Given the description of an element on the screen output the (x, y) to click on. 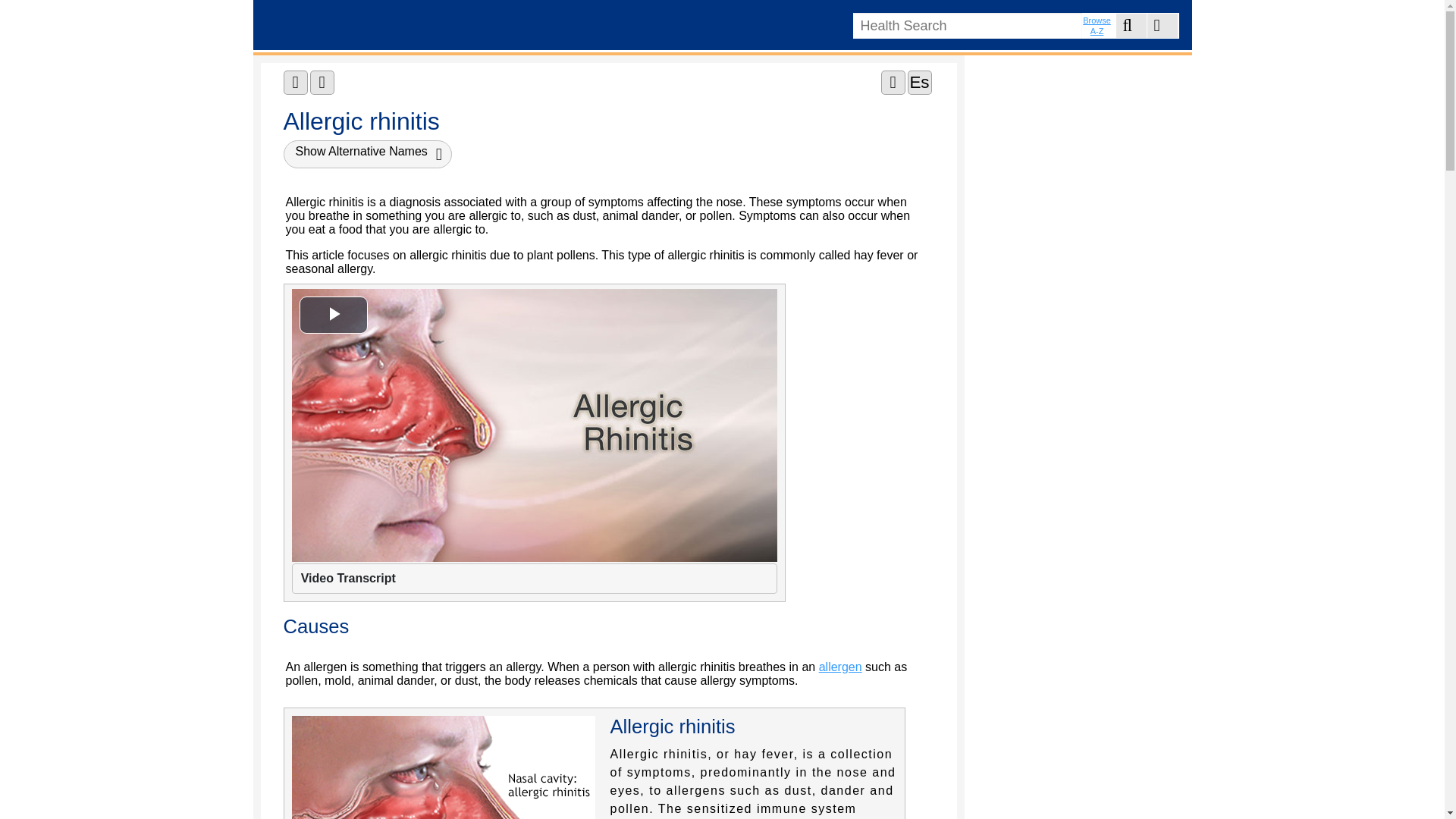
Browse A-Z (1098, 25)
Play Video (332, 314)
Es (920, 82)
Allergic rhinitis (533, 425)
Play Video (332, 314)
